Given the description of an element on the screen output the (x, y) to click on. 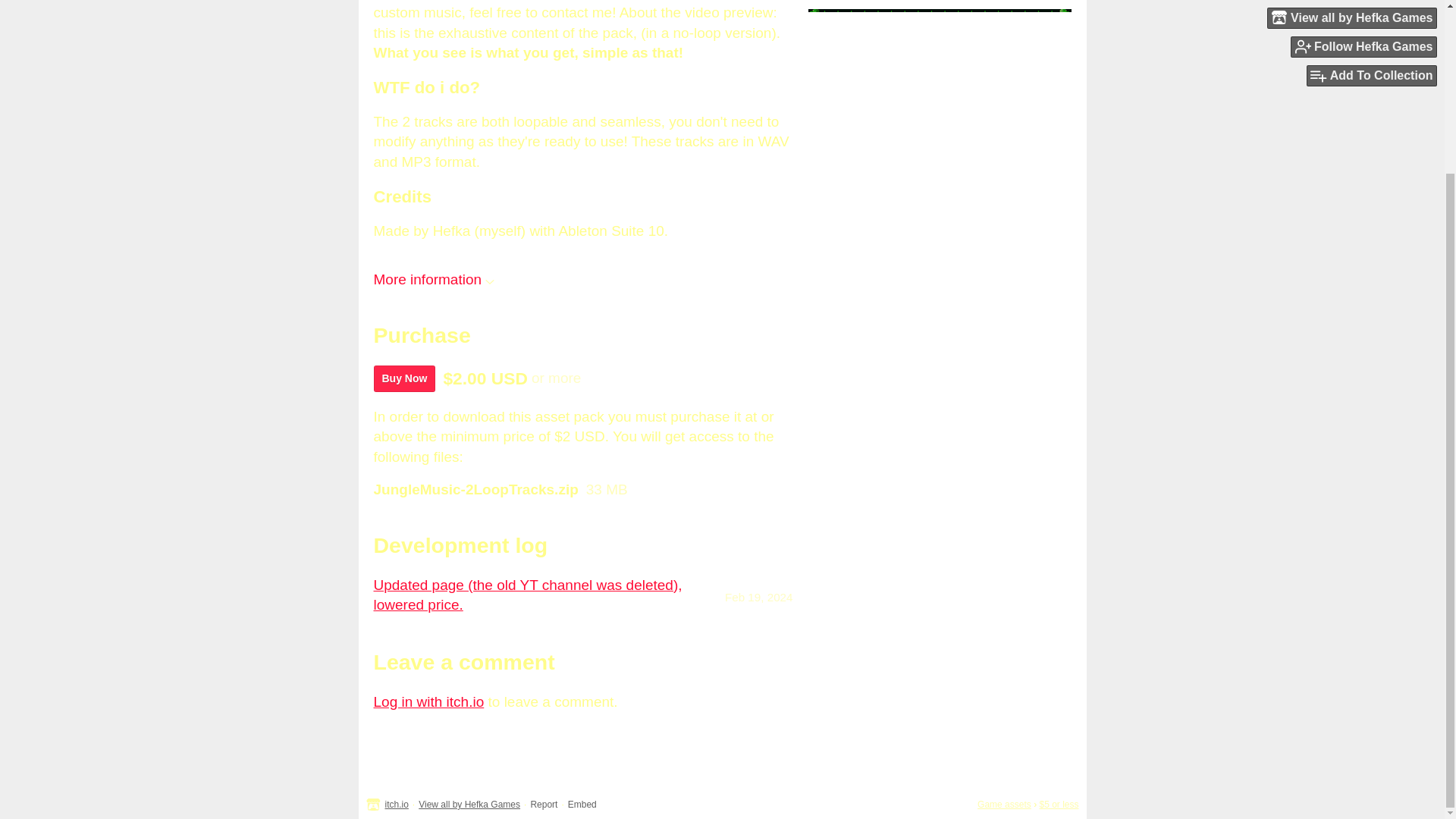
Embed (581, 804)
View all by Hefka Games (469, 804)
Log in with itch.io (427, 701)
Game assets (1003, 804)
More information (433, 279)
JungleMusic-2LoopTracks.zip (475, 489)
Report (543, 804)
itch.io (397, 804)
Buy Now (403, 378)
